Given the description of an element on the screen output the (x, y) to click on. 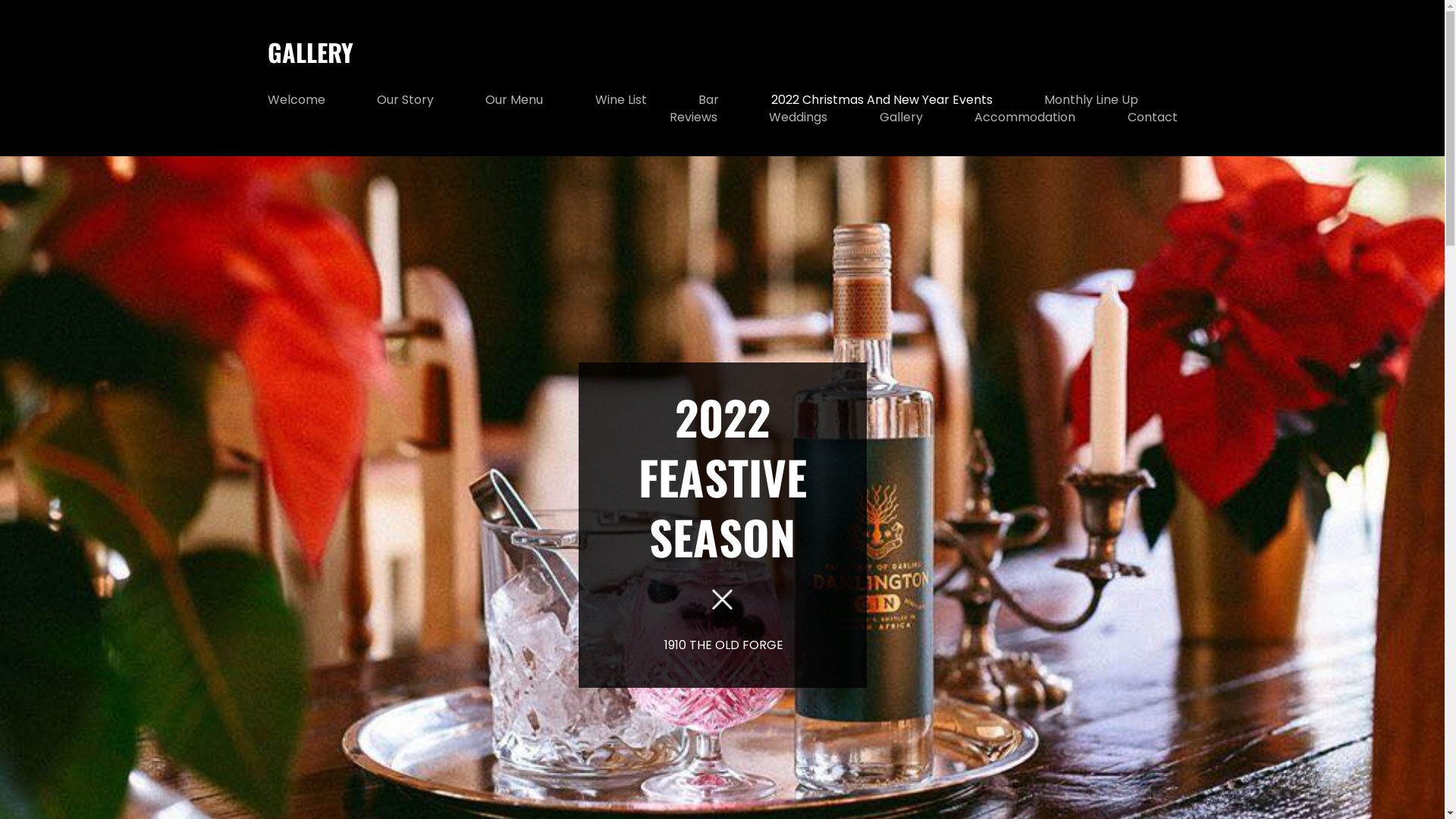
Wine List Element type: text (620, 99)
Reviews Element type: text (693, 116)
2022 Christmas And New Year Events Element type: text (881, 99)
Welcome Element type: text (295, 99)
Accommodation Element type: text (1024, 116)
GALLERY Element type: text (309, 51)
Our Menu Element type: text (513, 99)
Monthly Line Up Element type: text (1091, 99)
Gallery Element type: text (900, 116)
Our Story Element type: text (404, 99)
Bar Element type: text (708, 99)
Weddings Element type: text (797, 116)
Contact Element type: text (1151, 116)
